Given the description of an element on the screen output the (x, y) to click on. 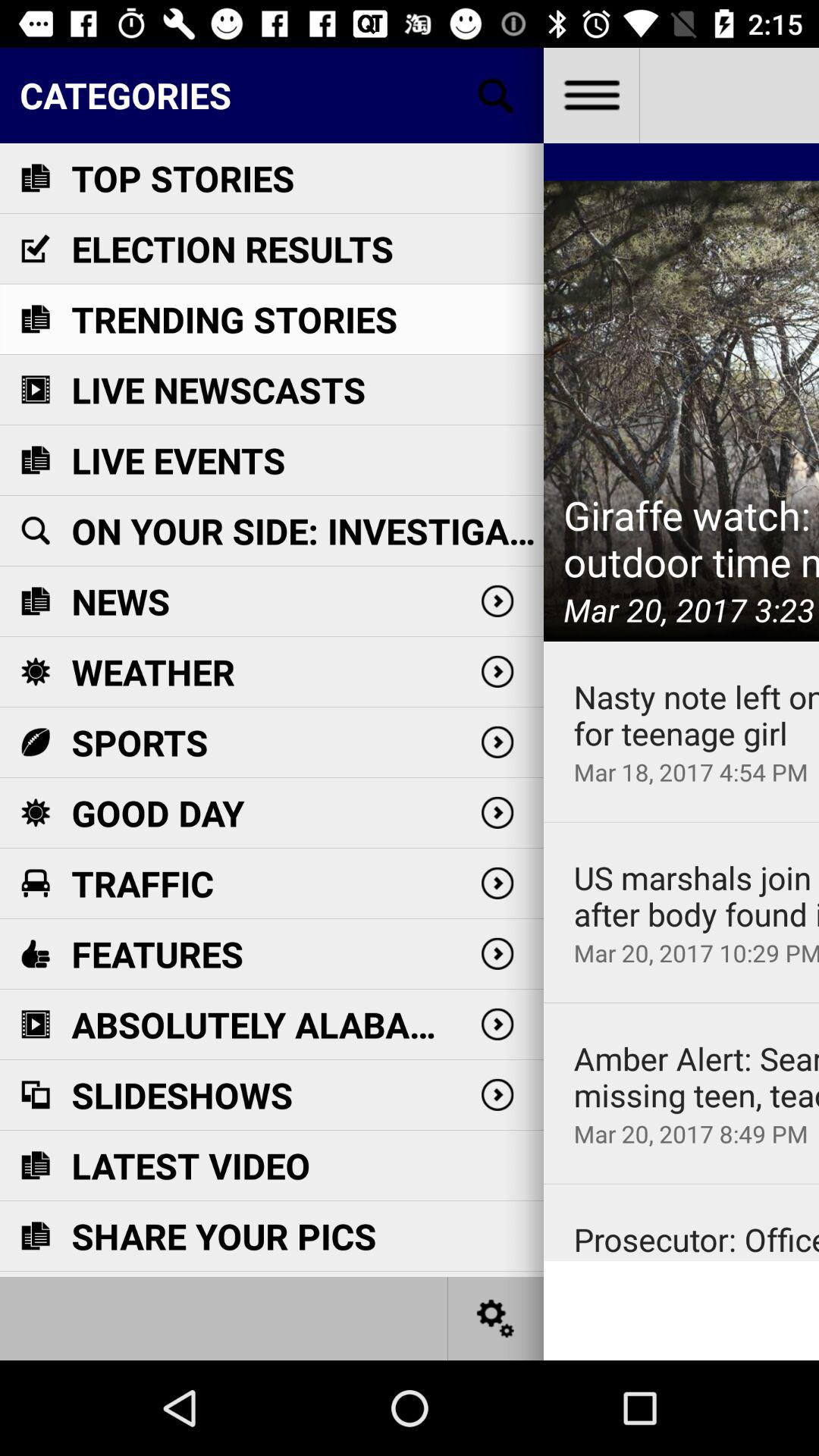
setting (495, 1318)
